Given the description of an element on the screen output the (x, y) to click on. 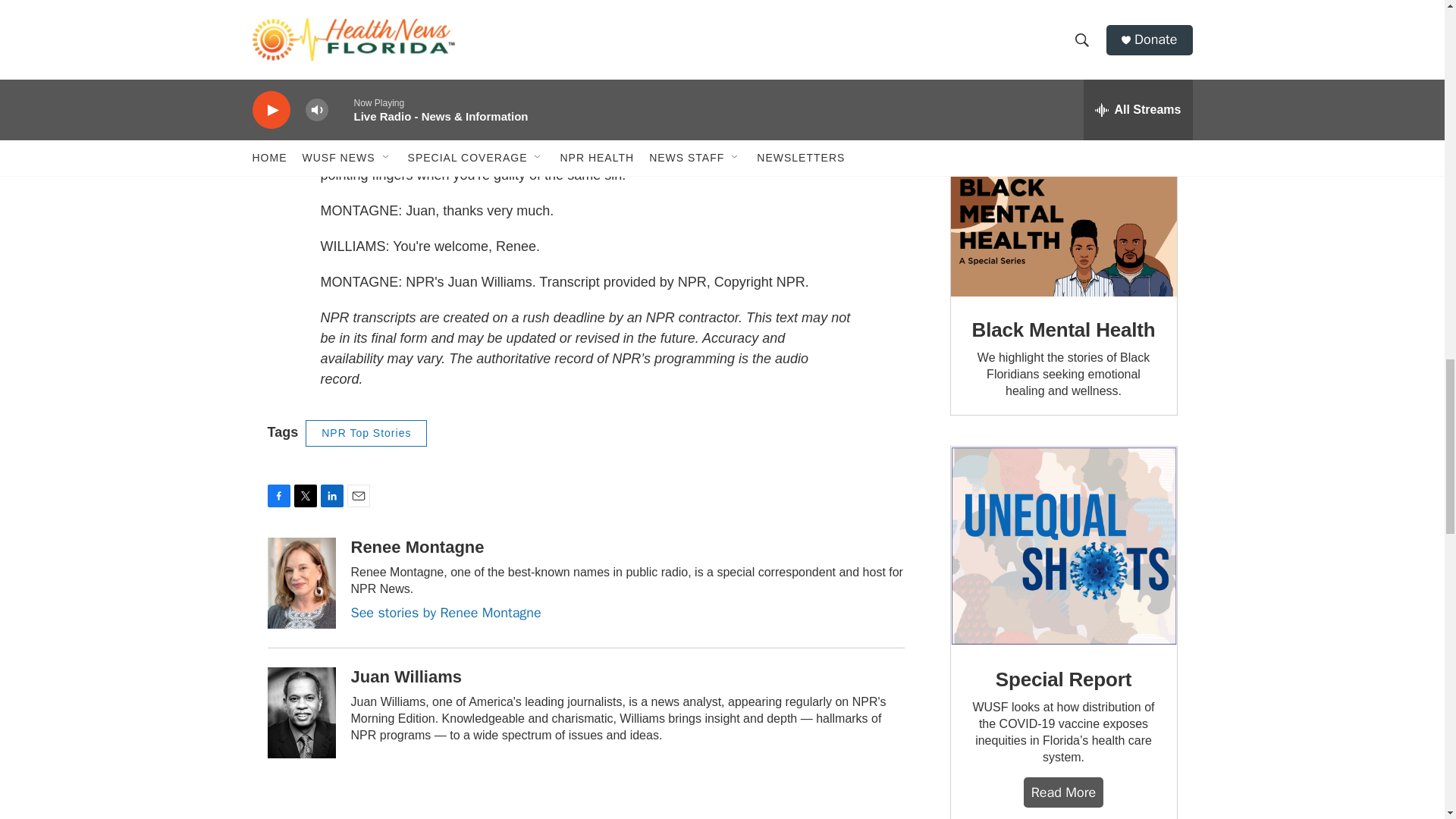
3rd party ad content (1063, 69)
